Given the description of an element on the screen output the (x, y) to click on. 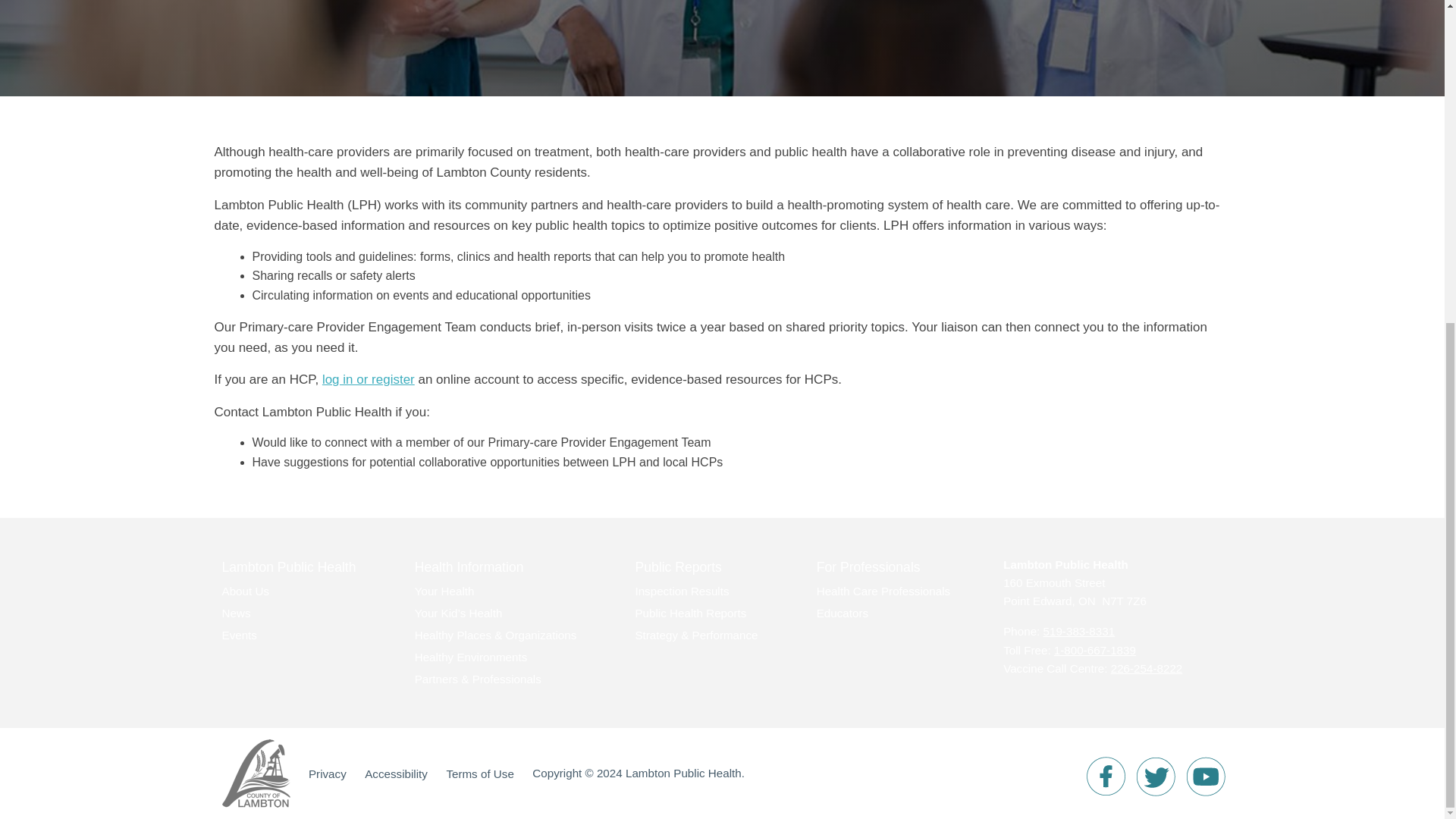
Youtube (1205, 776)
Twitter (1154, 776)
Facebook (1105, 776)
